Given the description of an element on the screen output the (x, y) to click on. 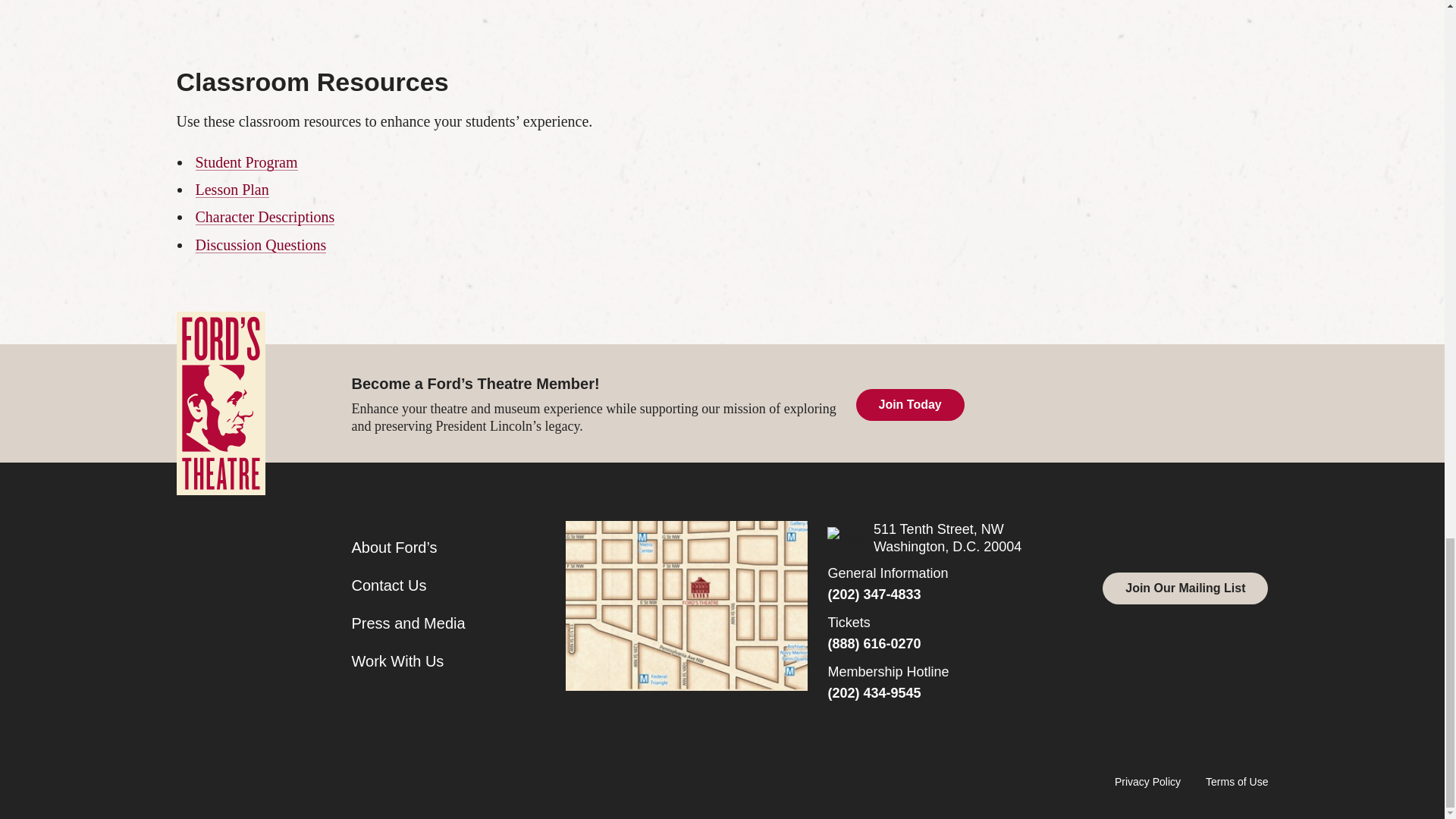
Press and Media (408, 623)
Privacy Policy (1147, 781)
Lesson Plan (232, 189)
Contact Us (389, 585)
Student Program (246, 161)
Work With Us (398, 660)
Character Descriptions (264, 216)
Join Our Mailing List (1185, 588)
Discussion Questions (260, 244)
Terms of Use (1236, 781)
